Given the description of an element on the screen output the (x, y) to click on. 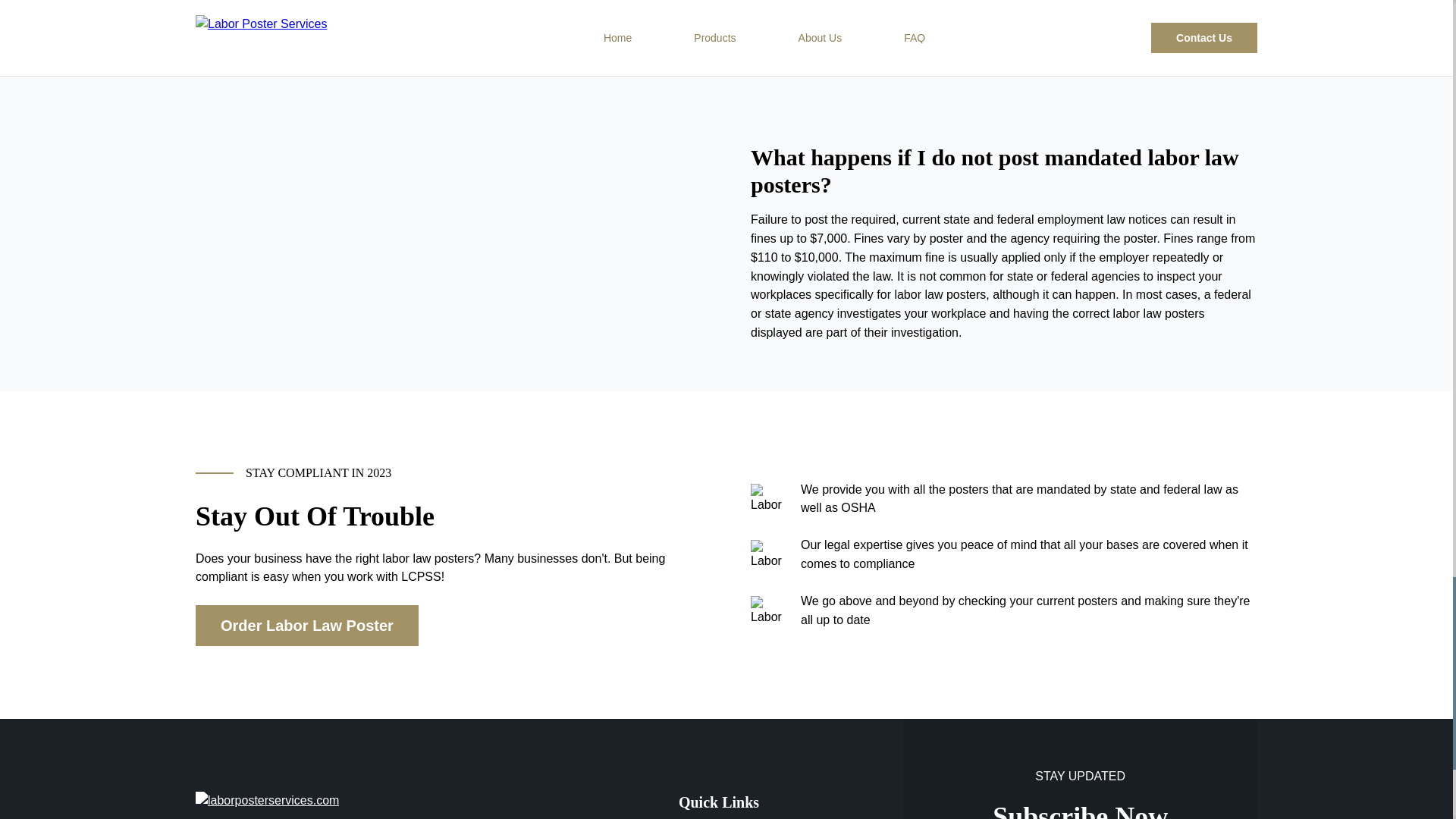
Order Labor Law Poster (307, 625)
